Given the description of an element on the screen output the (x, y) to click on. 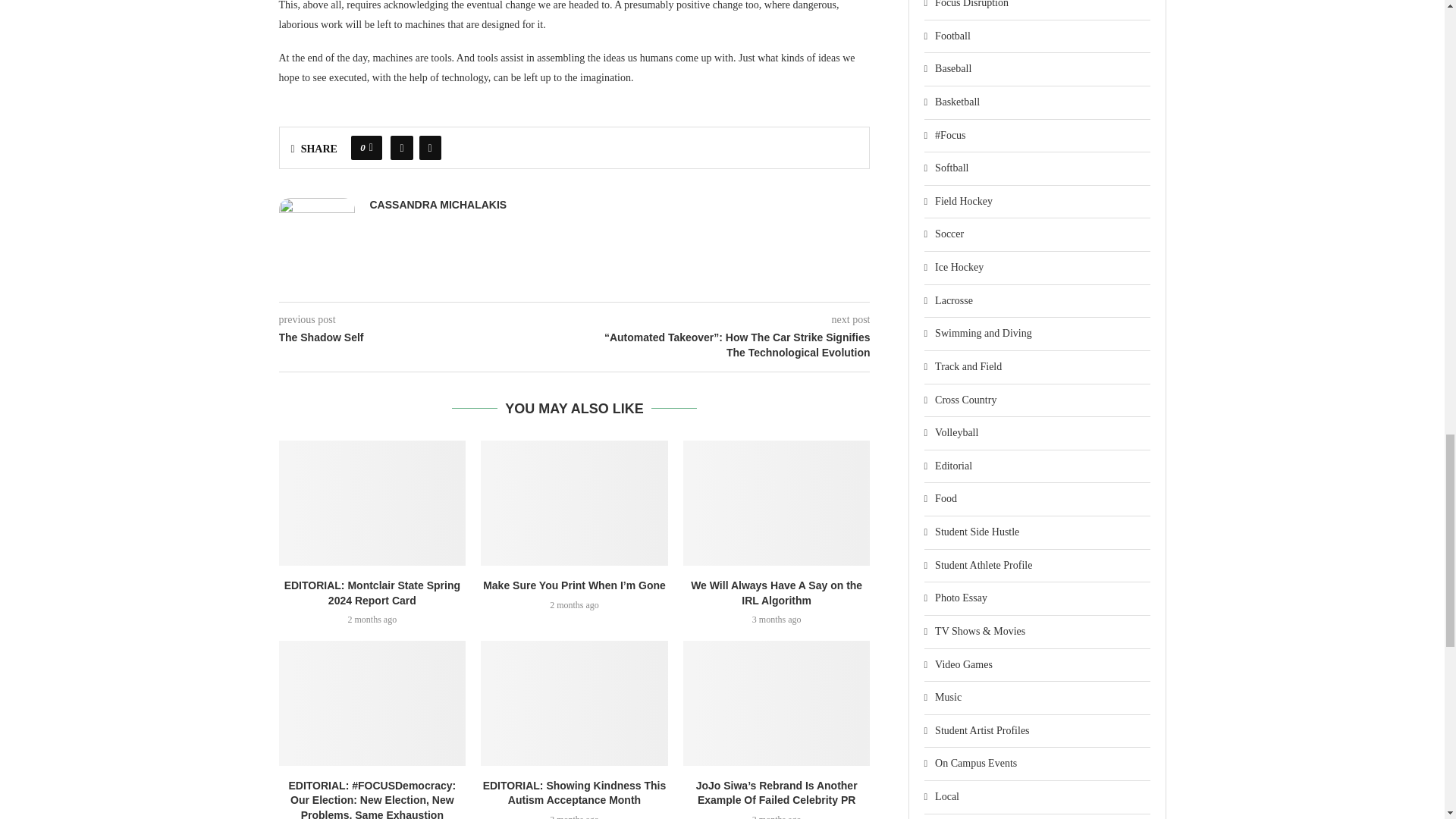
Like (370, 147)
Author Cassandra Michalakis (437, 205)
EDITORIAL: Showing Kindness This Autism Acceptance Month (574, 702)
We Will Always Have A Say on the IRL Algorithm (776, 502)
EDITORIAL: Montclair State Spring 2024 Report Card (372, 502)
